Given the description of an element on the screen output the (x, y) to click on. 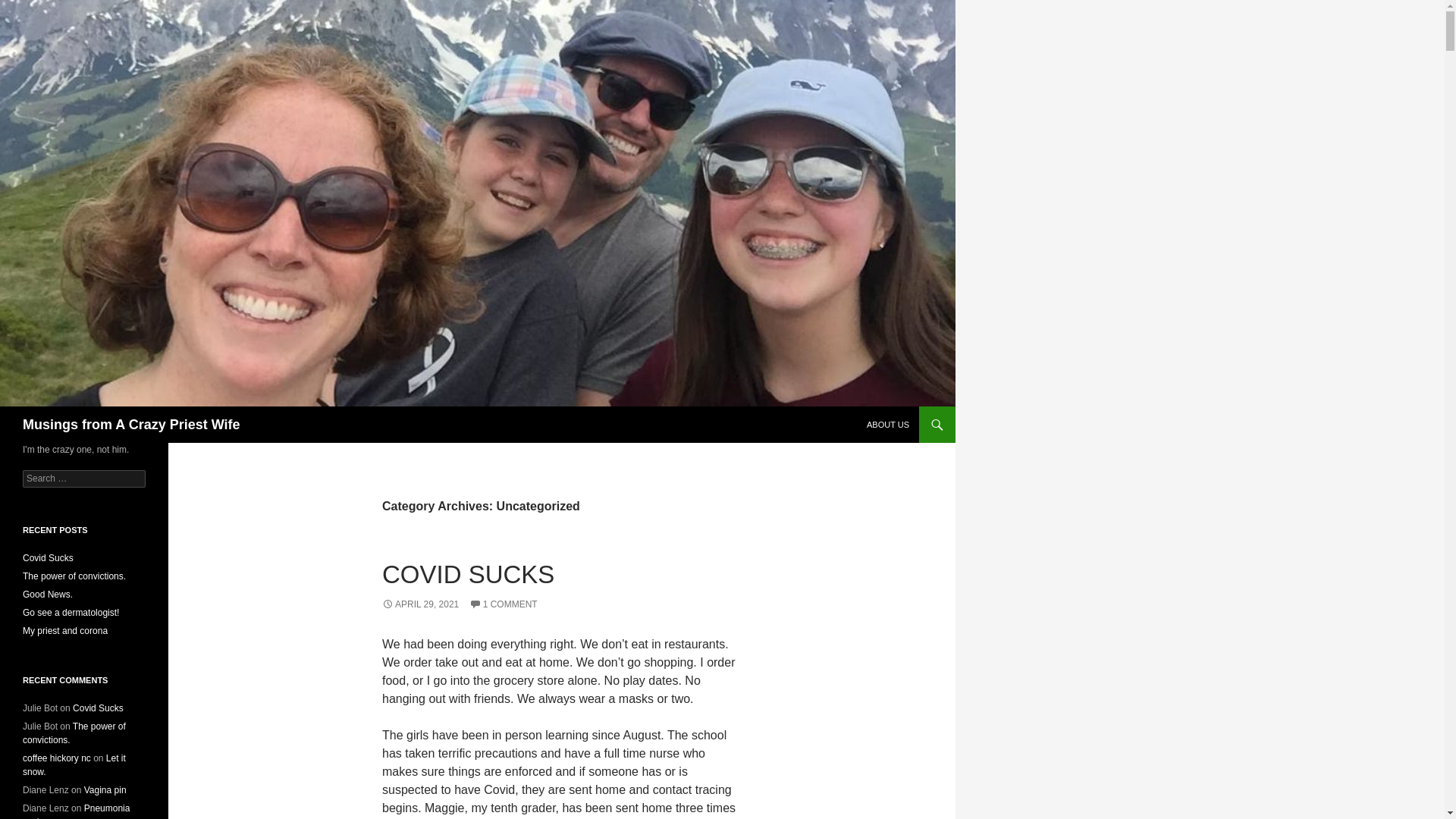
ABOUT US (887, 424)
COVID SUCKS (467, 574)
1 COMMENT (502, 603)
APRIL 29, 2021 (419, 603)
Musings from A Crazy Priest Wife (131, 424)
